Given the description of an element on the screen output the (x, y) to click on. 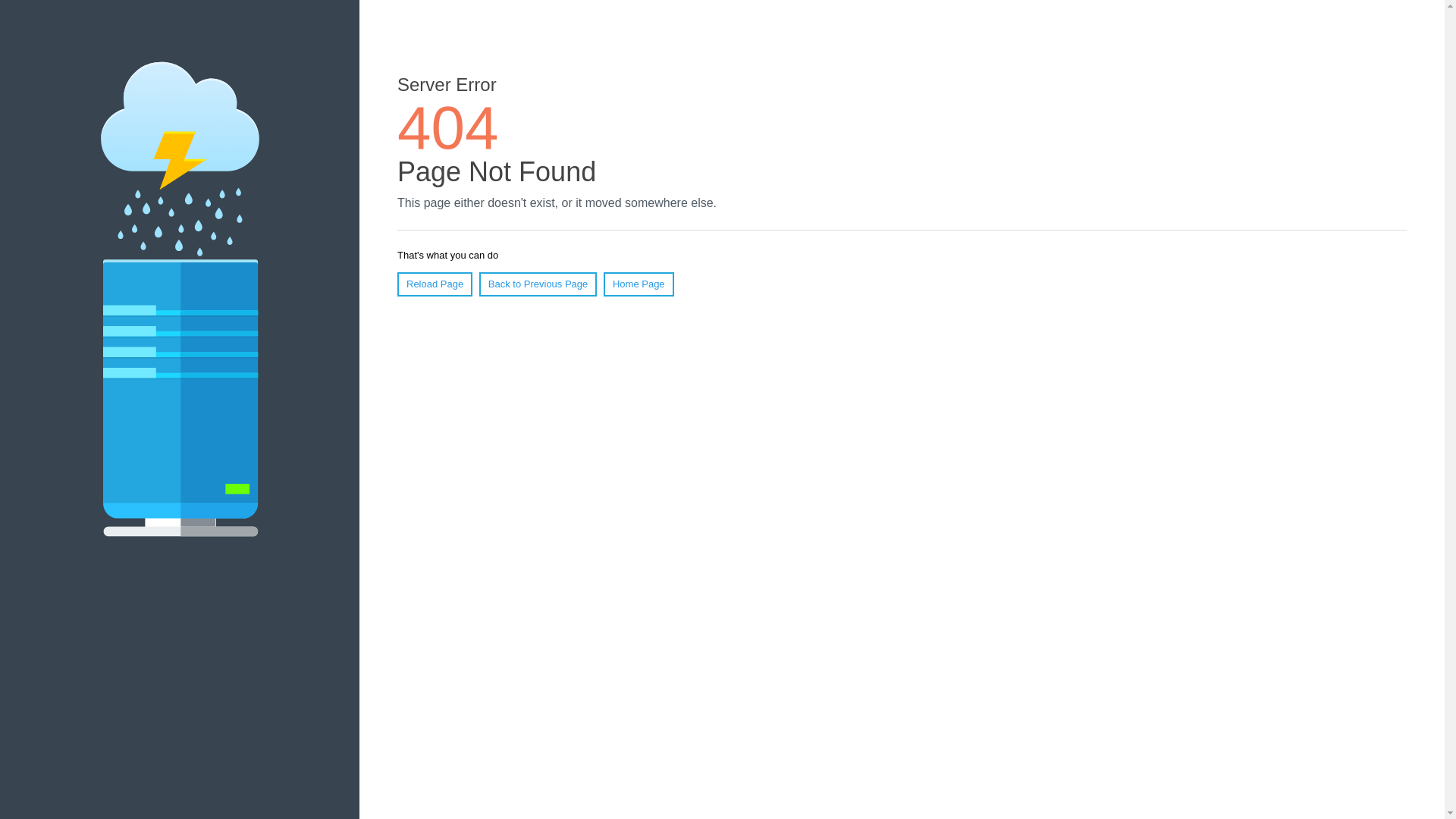
Reload Page Element type: text (434, 284)
Back to Previous Page Element type: text (538, 284)
Home Page Element type: text (638, 284)
